Given the description of an element on the screen output the (x, y) to click on. 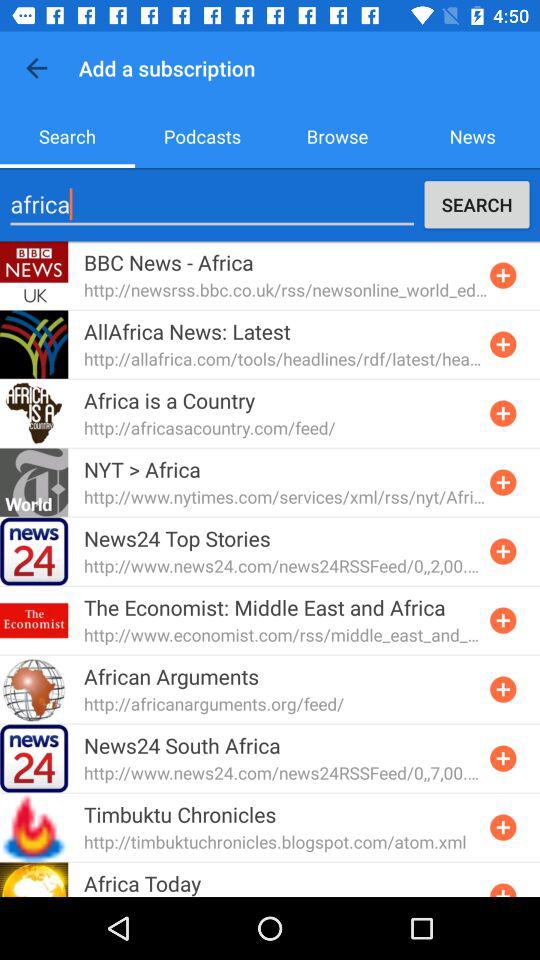
press icon next to search icon (202, 136)
